Given the description of an element on the screen output the (x, y) to click on. 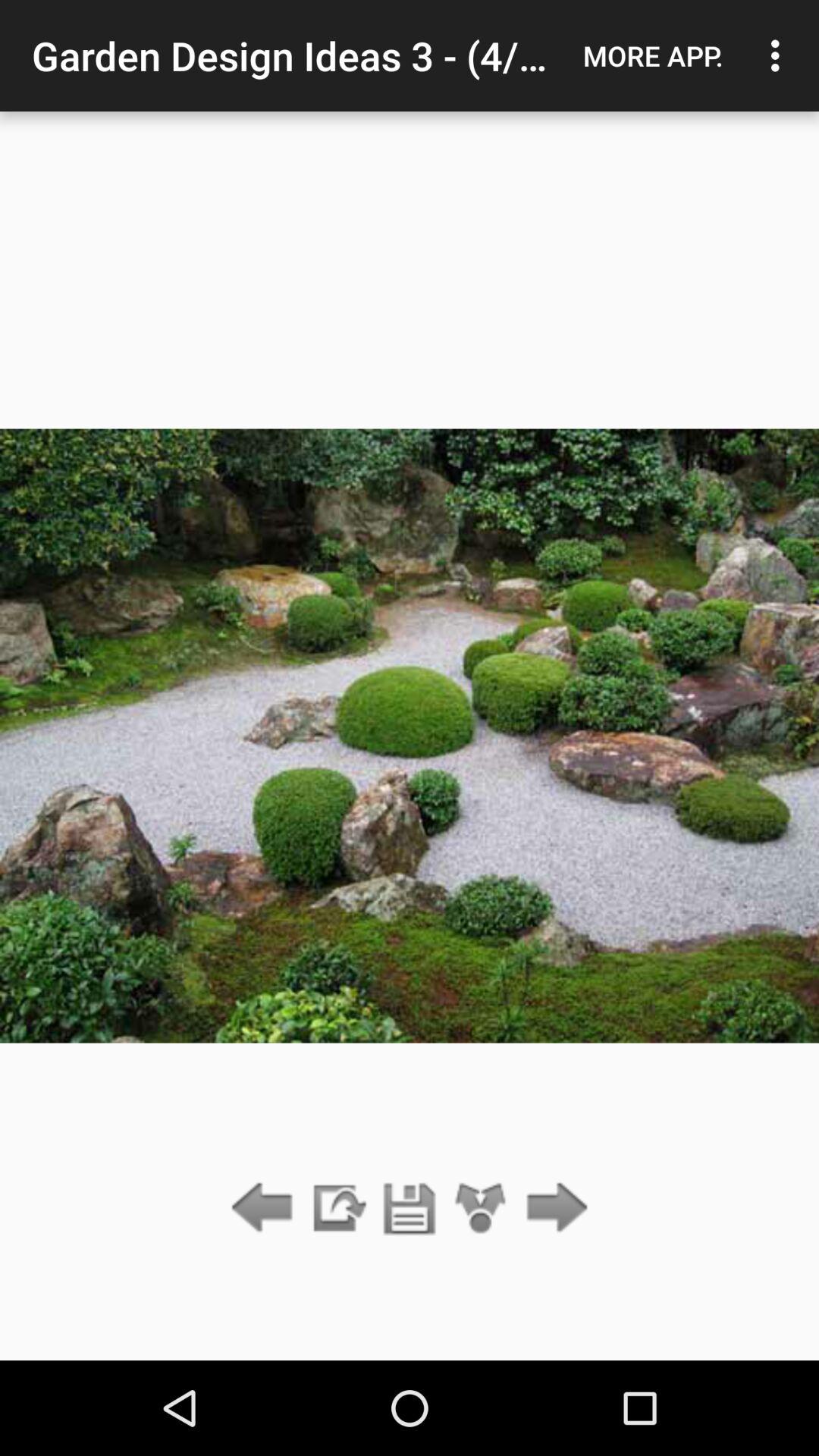
tap the app below the garden design ideas icon (337, 1208)
